Given the description of an element on the screen output the (x, y) to click on. 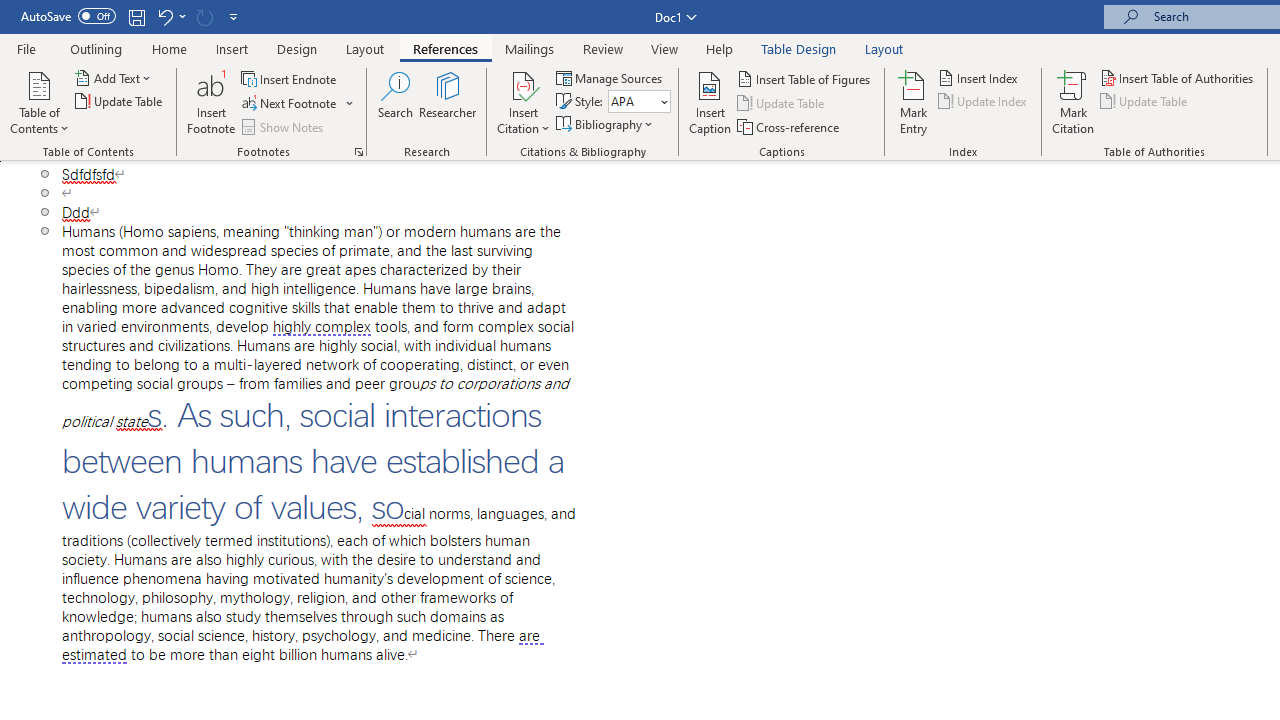
Insert Footnote (211, 102)
Bibliography (606, 124)
Style (639, 101)
Update Index (984, 101)
Update Table... (119, 101)
Insert Endnote (290, 78)
Insert Table of Authorities... (1177, 78)
Show Notes (284, 126)
